Given the description of an element on the screen output the (x, y) to click on. 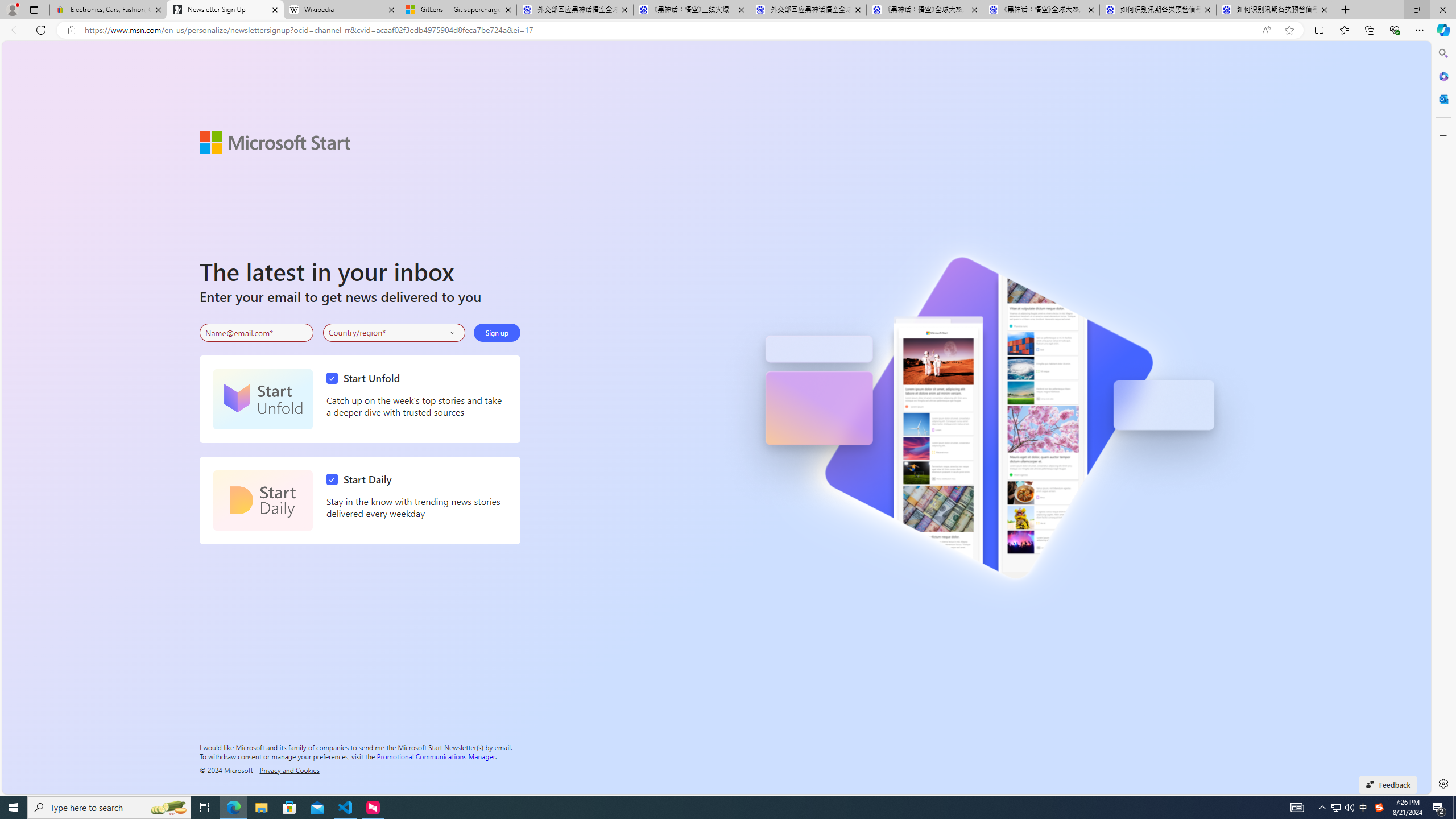
Start Unfold (366, 378)
Start Unfold (262, 399)
Promotional Communications Manager (436, 755)
Sign up (496, 332)
Enter your email (256, 332)
